Given the description of an element on the screen output the (x, y) to click on. 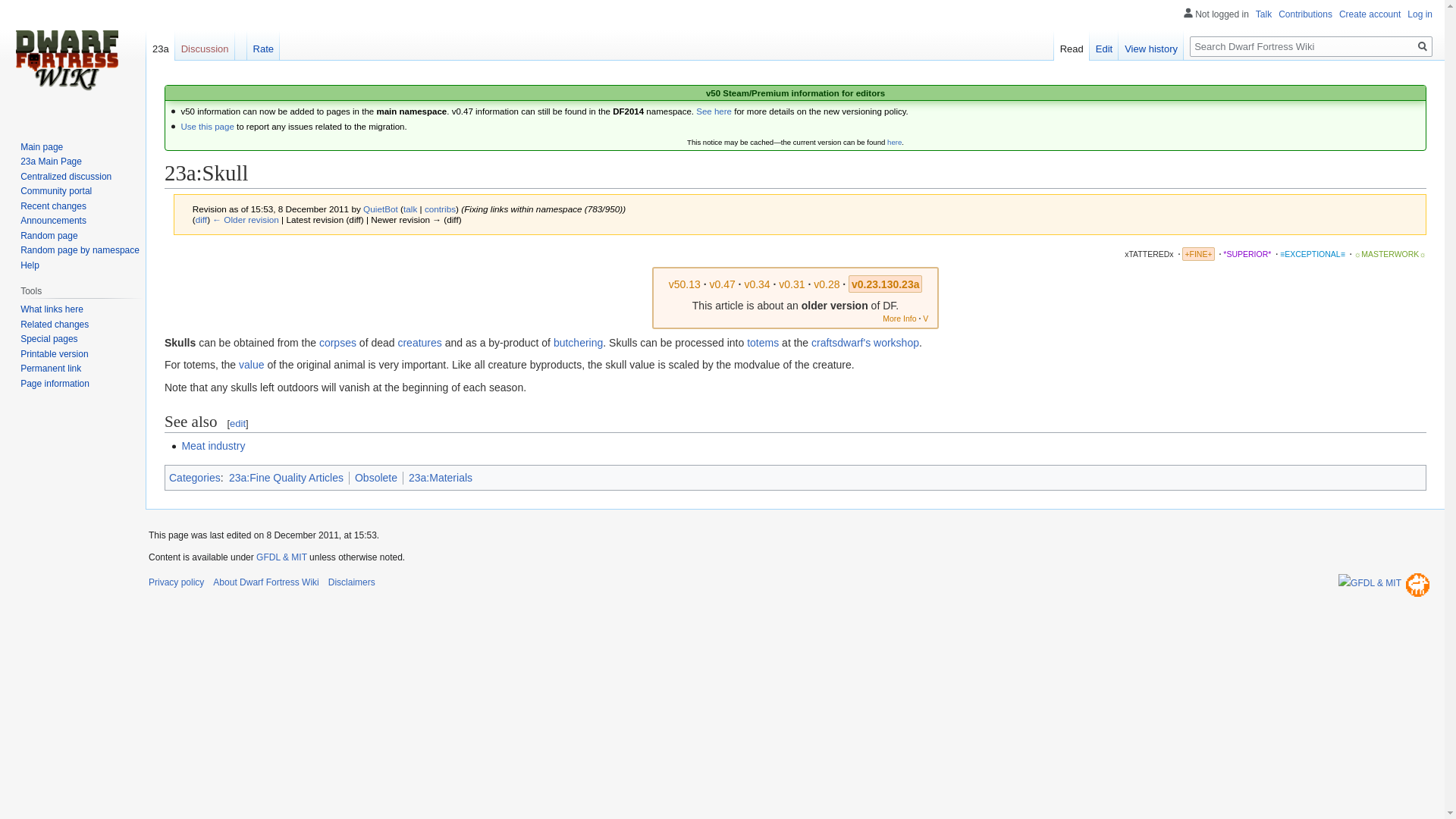
value (250, 364)
totems (762, 342)
v0.34 (757, 284)
QuietBot (379, 208)
Dwarf Fortress Wiki:Quality (1390, 253)
here (893, 142)
Use this page (206, 126)
Search (1422, 46)
corpses (337, 342)
Meat industry (212, 445)
User talk:QuietBot (409, 208)
23a:Materials (440, 477)
craftsdwarf's workshop (864, 342)
Go (1422, 46)
User:QuietBot (379, 208)
